Given the description of an element on the screen output the (x, y) to click on. 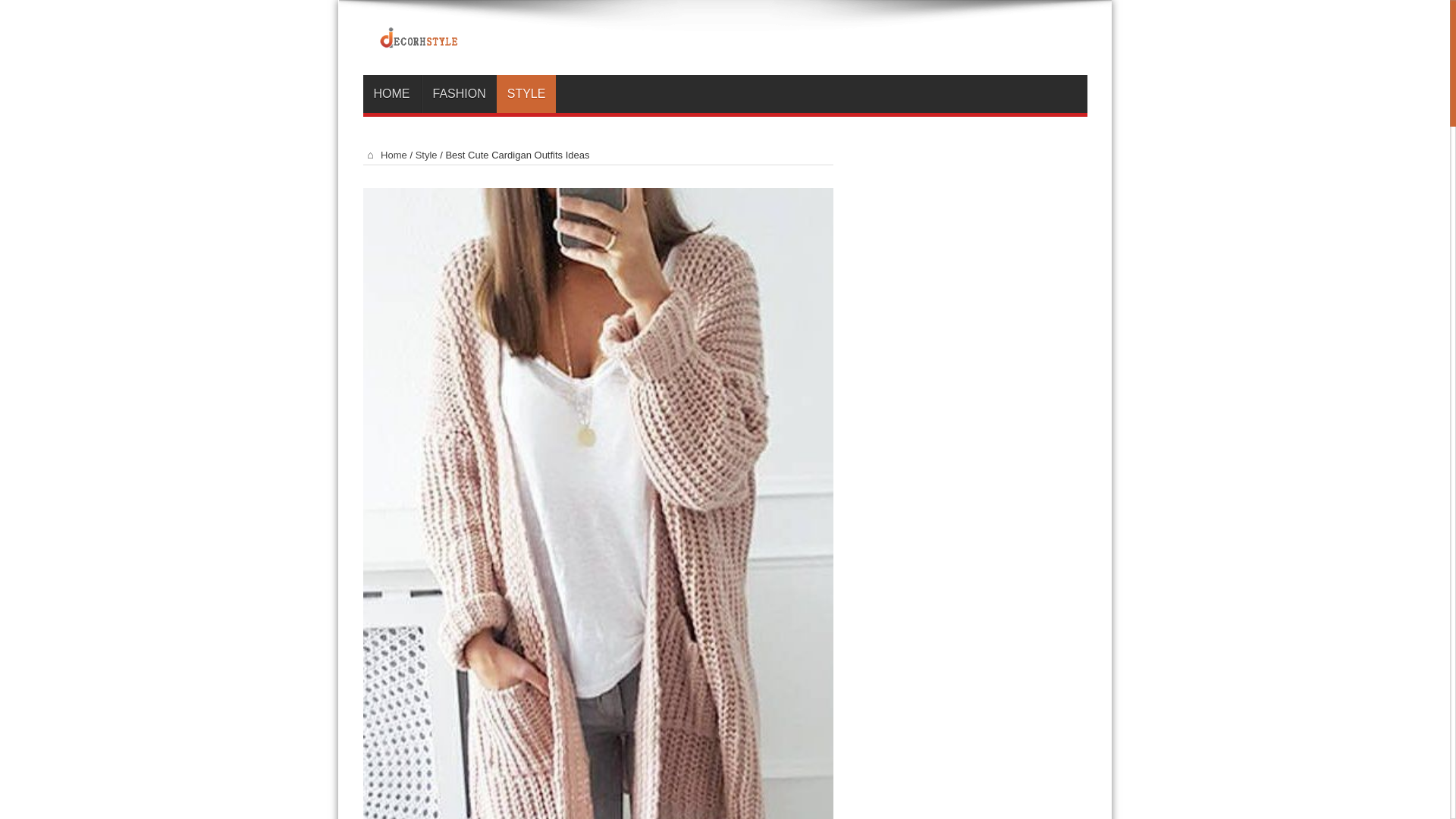
HOME (391, 94)
decorhstyle.com (724, 36)
FASHION (459, 94)
Home (384, 154)
STYLE (526, 94)
Style (426, 154)
